Given the description of an element on the screen output the (x, y) to click on. 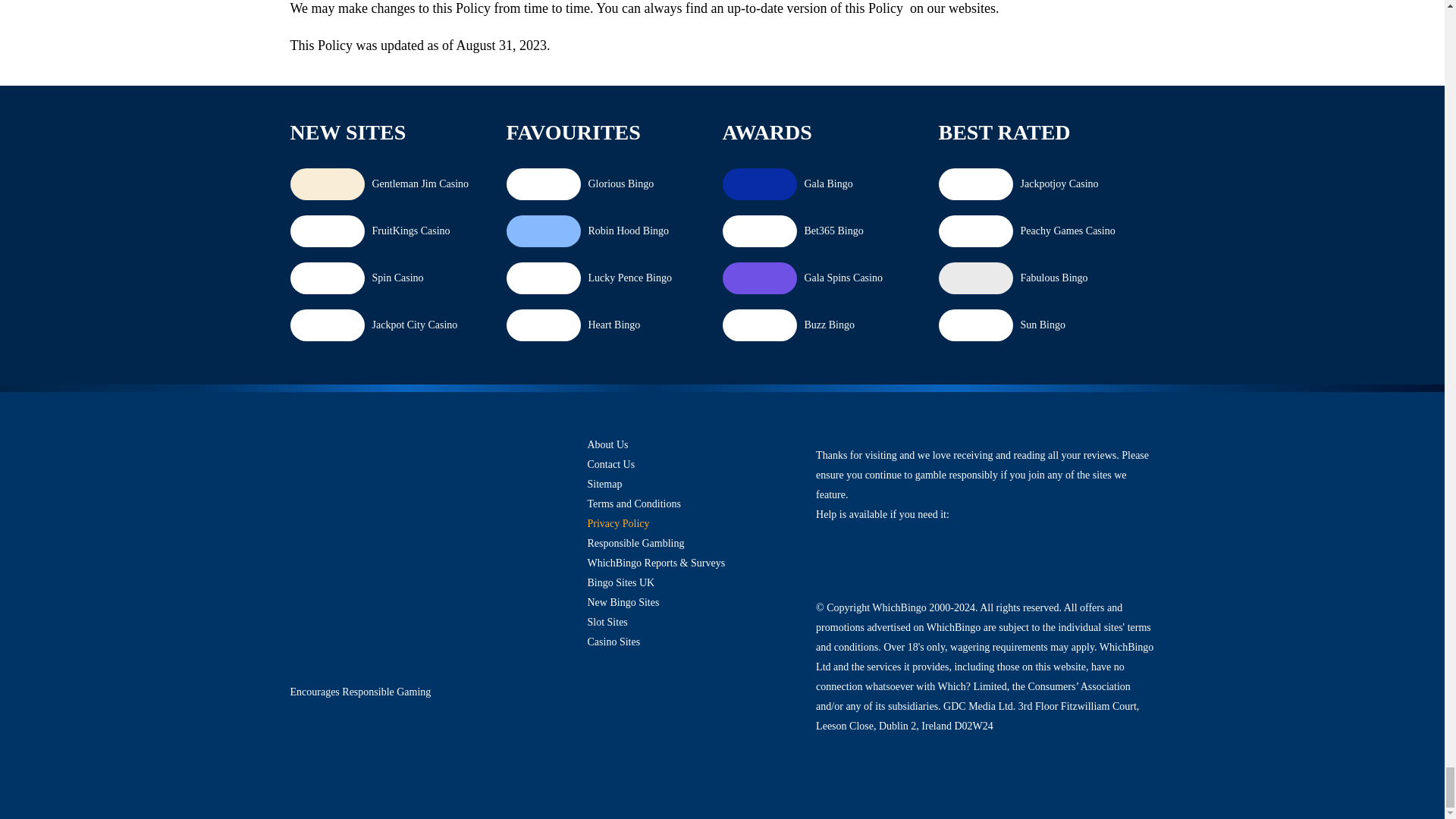
Robin Hood Bingo (542, 231)
Buzz Bingo (759, 325)
Fabulous Bingo (975, 278)
Spin Casino (327, 278)
Jackpot City Casino (327, 325)
Lucky Pence Bingo (542, 278)
Sun Bingo (975, 325)
Glorious Bingo (542, 184)
Jackpotjoy Casino (975, 184)
Gentleman Jim Casino (327, 184)
